Given the description of an element on the screen output the (x, y) to click on. 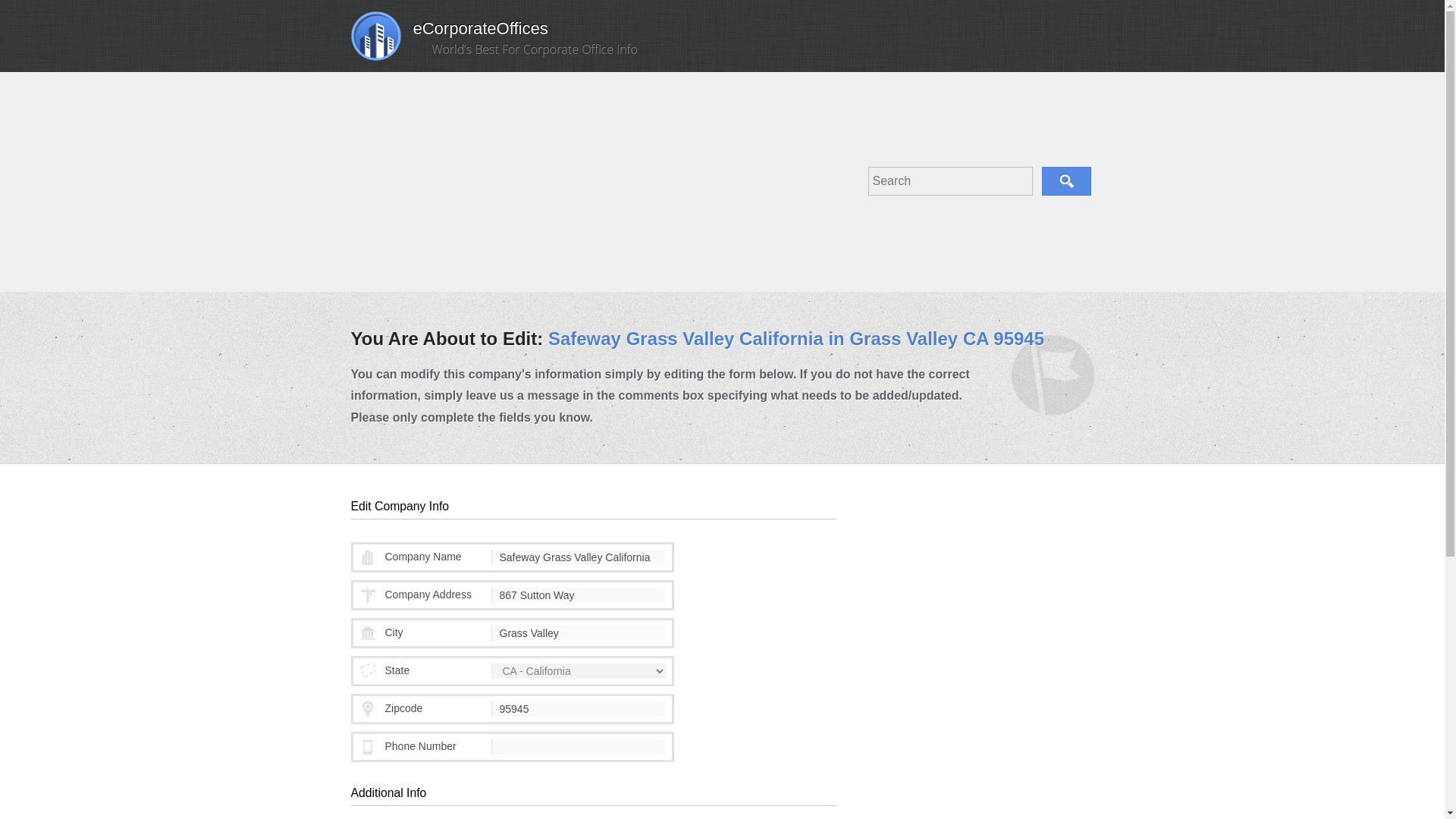
95945 (578, 708)
Safeway Grass Valley California (578, 557)
eCorporateOffices - Browse All Corporate Offices (448, 33)
Search (1066, 181)
eCorporateOffices (448, 33)
867 Sutton Way (578, 595)
Grass Valley (578, 632)
